Given the description of an element on the screen output the (x, y) to click on. 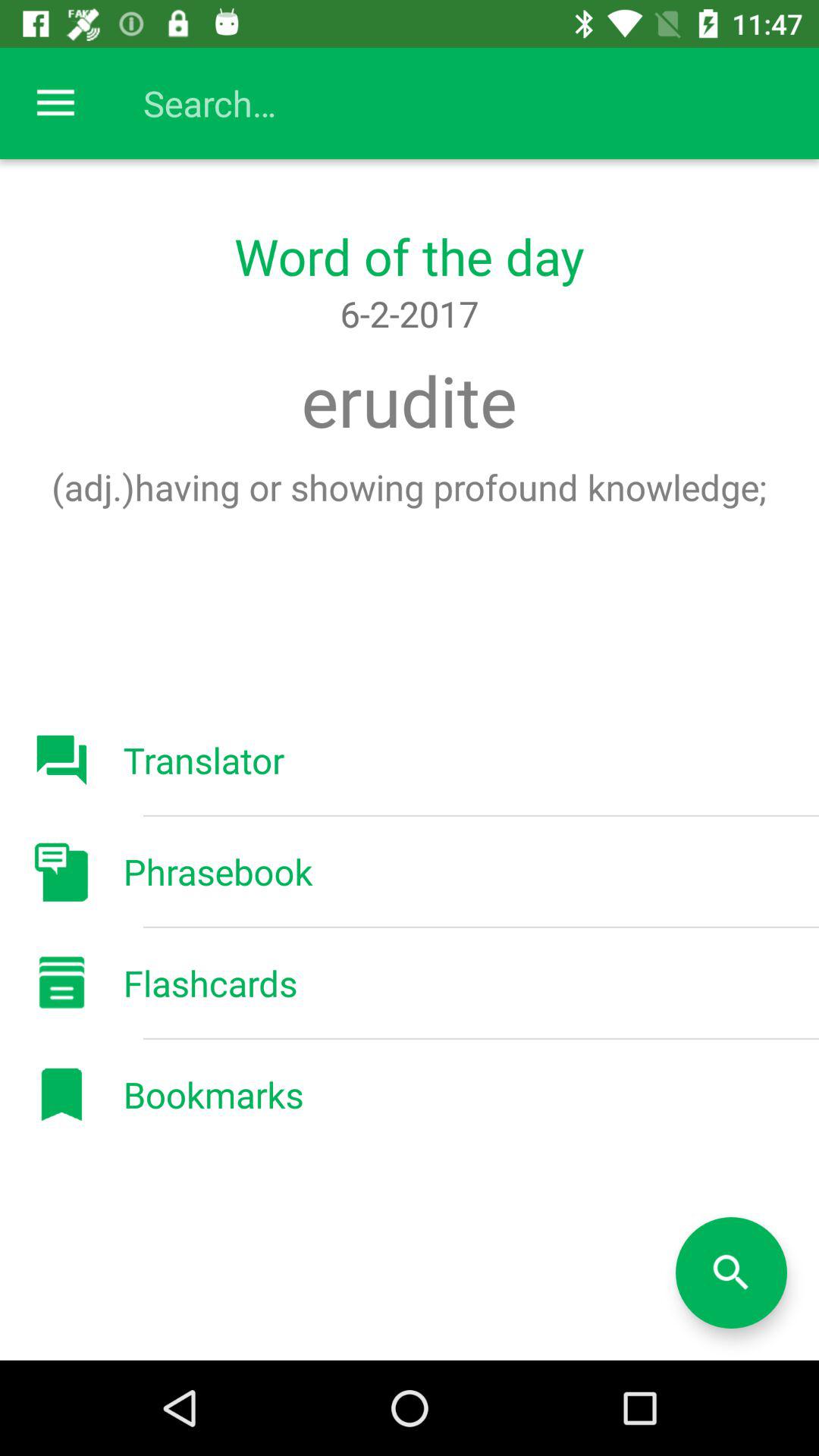
search bar for searching (425, 103)
